Given the description of an element on the screen output the (x, y) to click on. 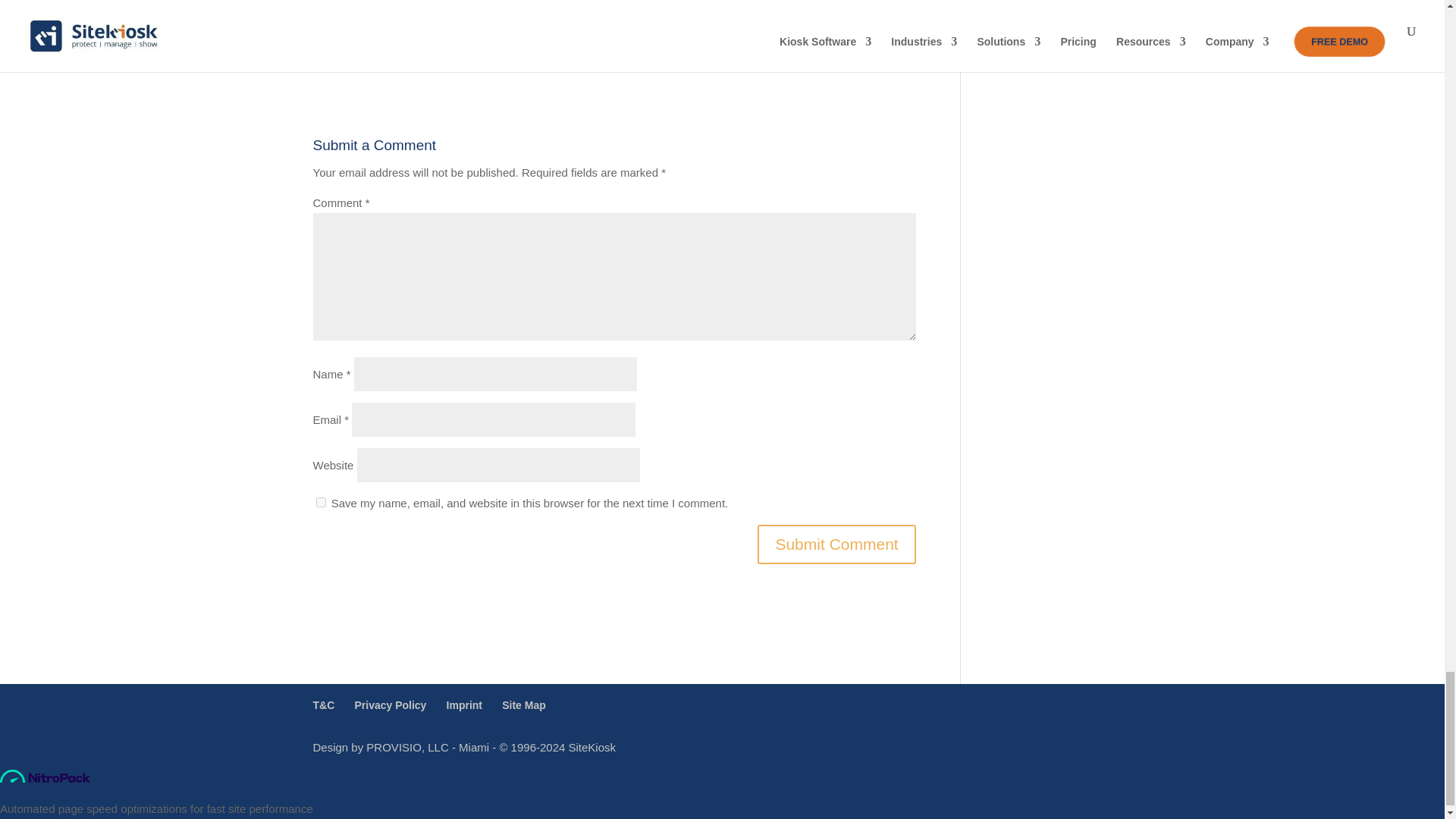
yes (319, 501)
Submit Comment (836, 544)
